Given the description of an element on the screen output the (x, y) to click on. 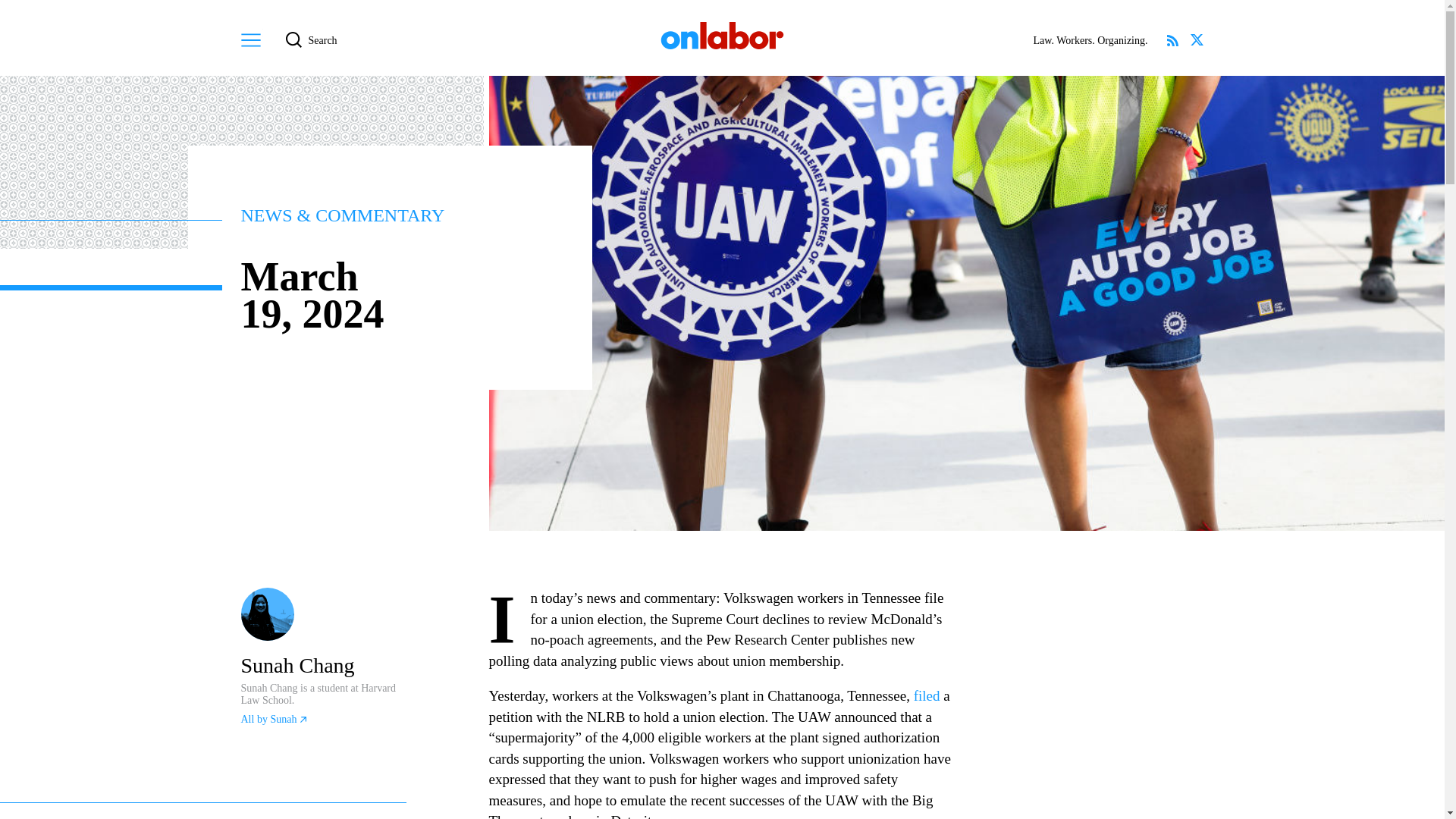
OnLabor (722, 35)
Menu (250, 39)
Sunah Chang (298, 665)
All by Sunah (274, 718)
filed (927, 695)
Search (316, 39)
